Given the description of an element on the screen output the (x, y) to click on. 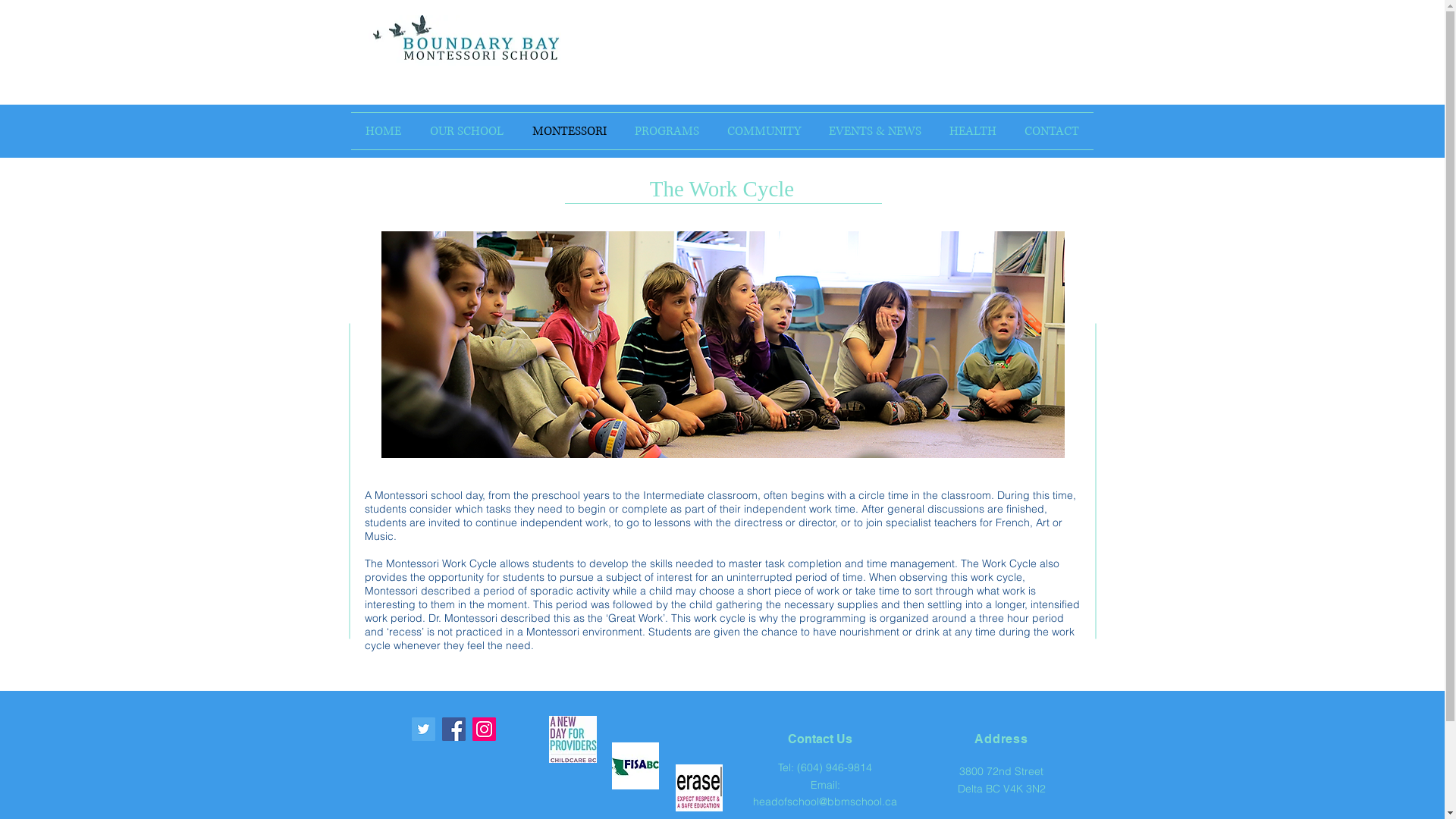
HEALTH Element type: text (972, 130)
COMMUNITY Element type: text (763, 130)
CONTACT Element type: text (1051, 130)
EVENTS & NEWS Element type: text (874, 130)
PROGRAMS Element type: text (666, 130)
headofschool@bbmschool.ca Element type: text (825, 801)
MONTESSORI Element type: text (568, 130)
OUR SCHOOL Element type: text (466, 130)
HOME Element type: text (382, 130)
